Given the description of an element on the screen output the (x, y) to click on. 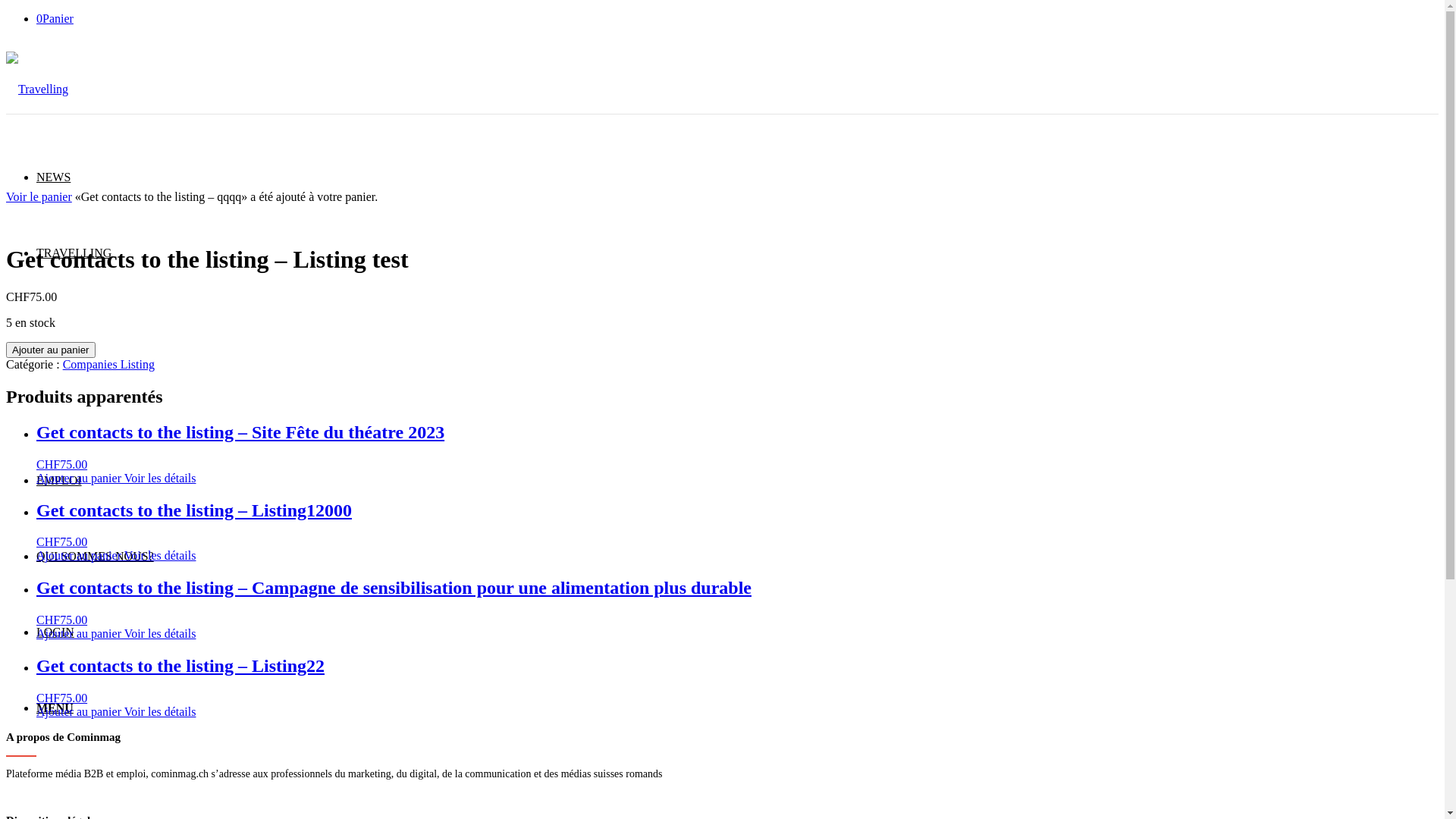
MENU Element type: text (54, 707)
LOGIN Element type: text (55, 631)
Ajouter au panier Element type: text (78, 477)
Ajouter au panier Element type: text (78, 555)
Ajouter au panier Element type: text (78, 711)
0Panier Element type: text (54, 18)
TRAVELLING Element type: text (73, 252)
Companies Listing Element type: text (108, 363)
QUI SOMMES NOUS? Element type: text (94, 555)
Voir le panier Element type: text (39, 196)
Ajouter au panier Element type: text (50, 349)
NEWS Element type: text (53, 176)
Ajouter au panier Element type: text (78, 633)
EMPLOI Element type: text (58, 479)
Inscription de votre agence Element type: text (63, 796)
